Given the description of an element on the screen output the (x, y) to click on. 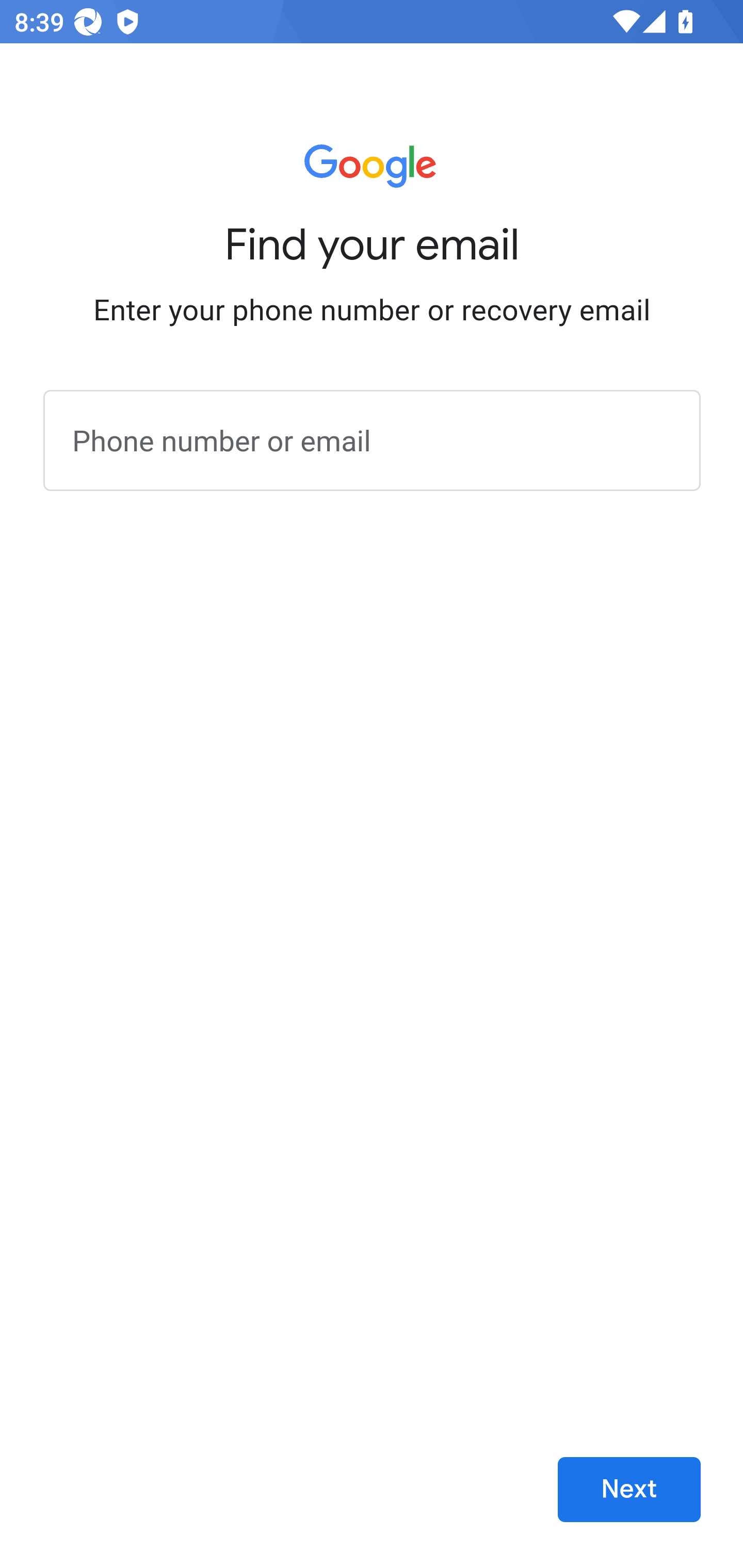
Next (629, 1490)
